Given the description of an element on the screen output the (x, y) to click on. 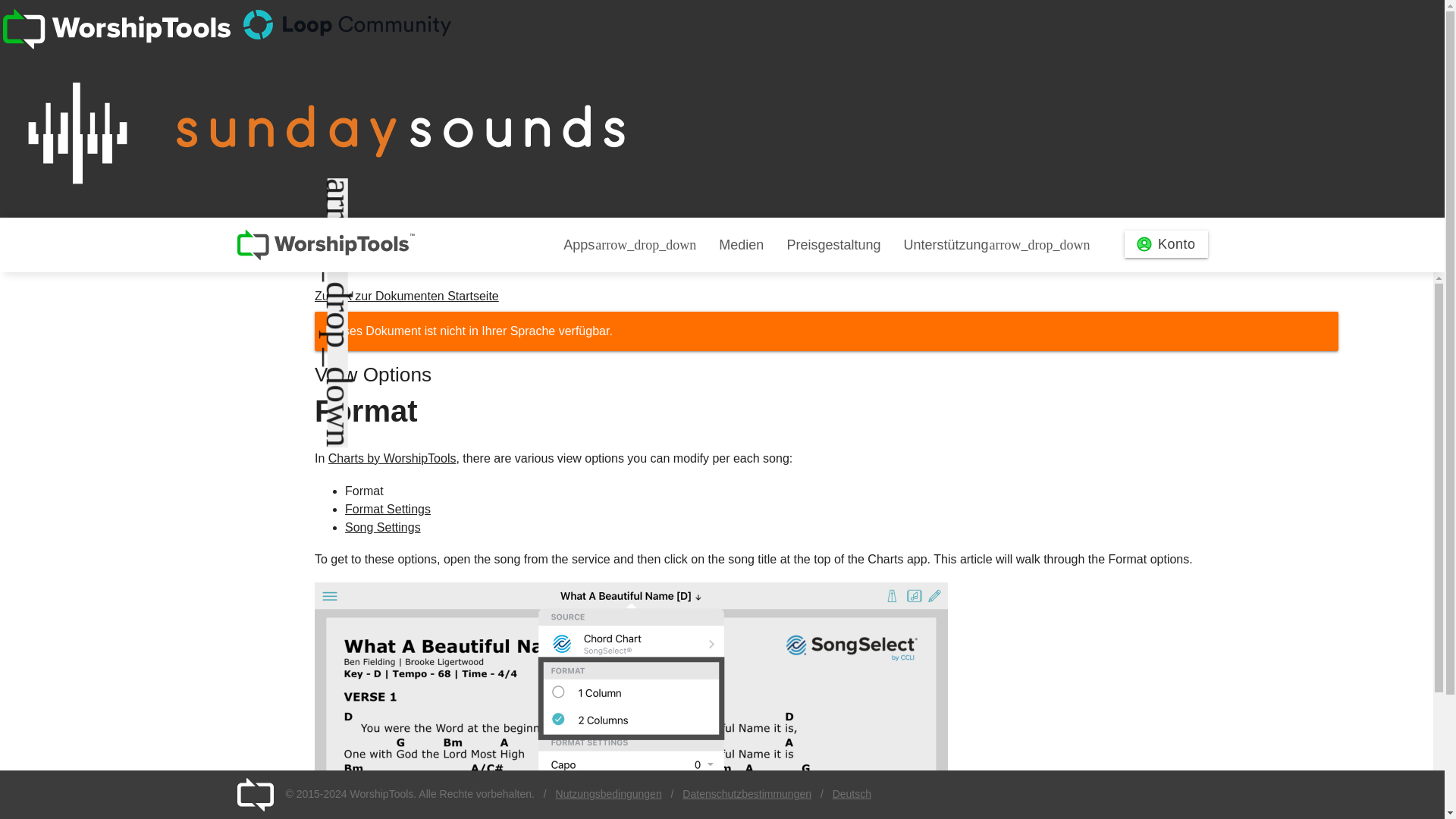
Konto (1166, 243)
Medien (740, 245)
Preisgestaltung (832, 245)
